Given the description of an element on the screen output the (x, y) to click on. 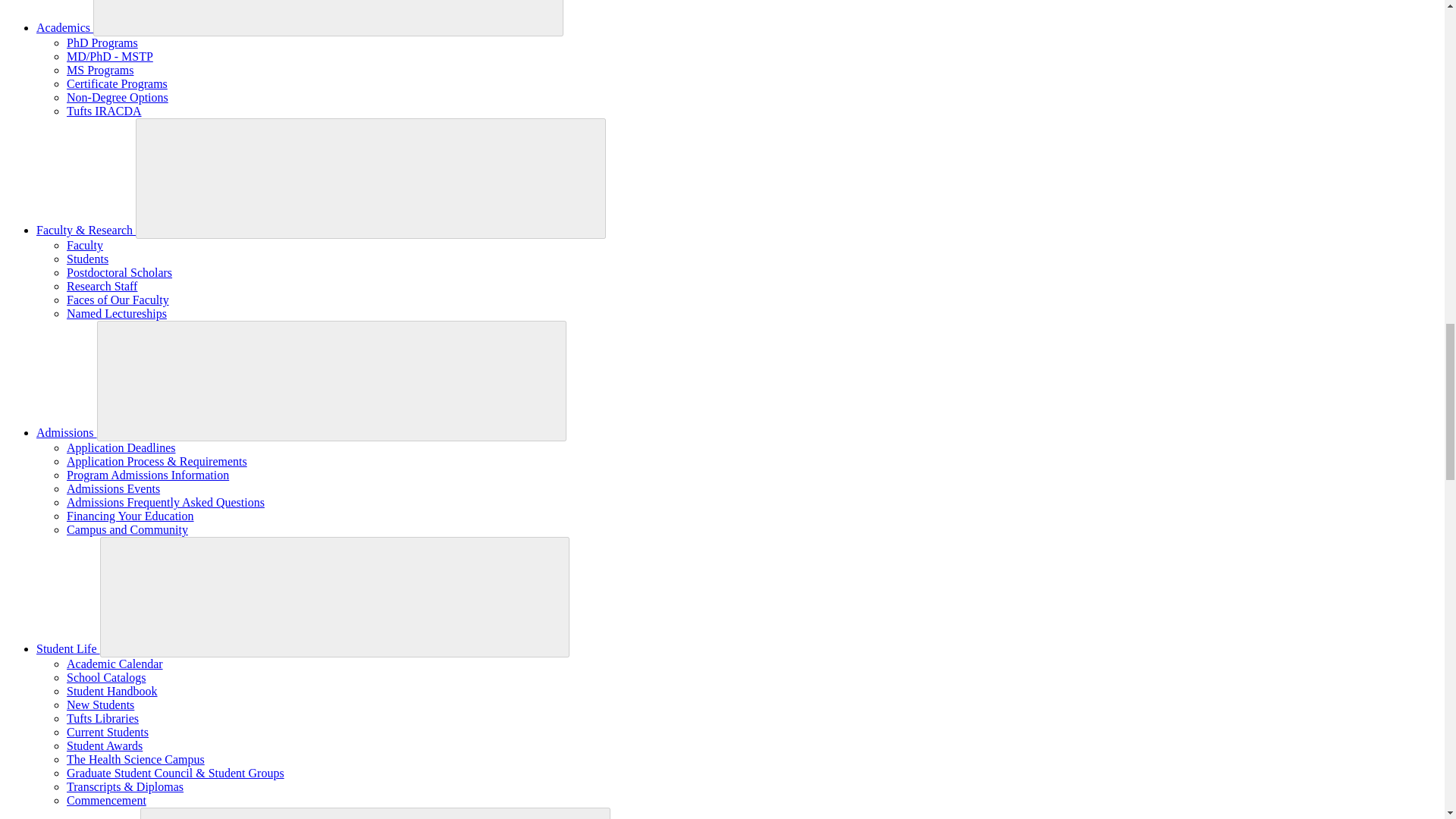
PhD Programs (102, 42)
Students (86, 258)
Non-Degree Options (117, 97)
Certificate Programs (116, 83)
MS Programs (99, 69)
Academics (64, 27)
Tufts IRACDA (103, 110)
Faculty (84, 245)
